Given the description of an element on the screen output the (x, y) to click on. 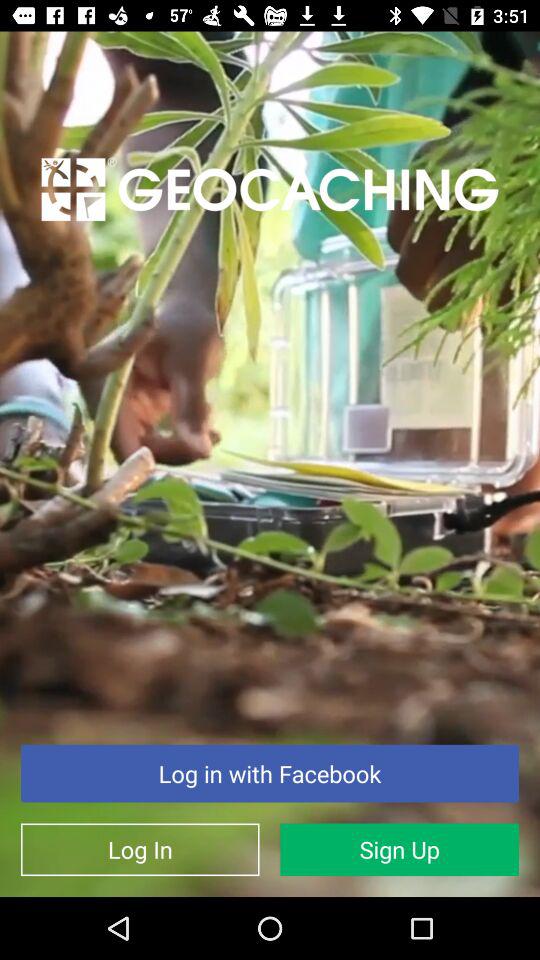
launch item below the log in with icon (399, 849)
